Given the description of an element on the screen output the (x, y) to click on. 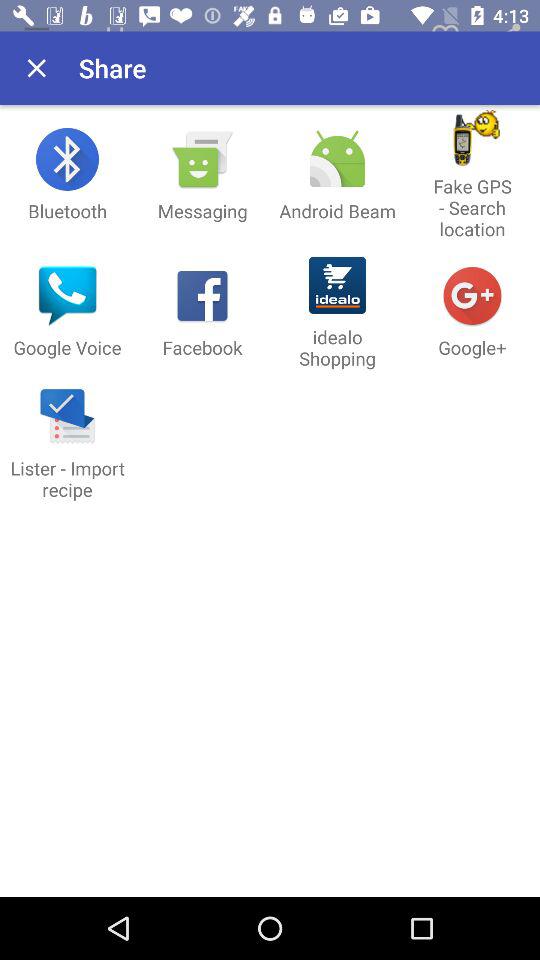
tap the icon next to the share item (36, 68)
